Given the description of an element on the screen output the (x, y) to click on. 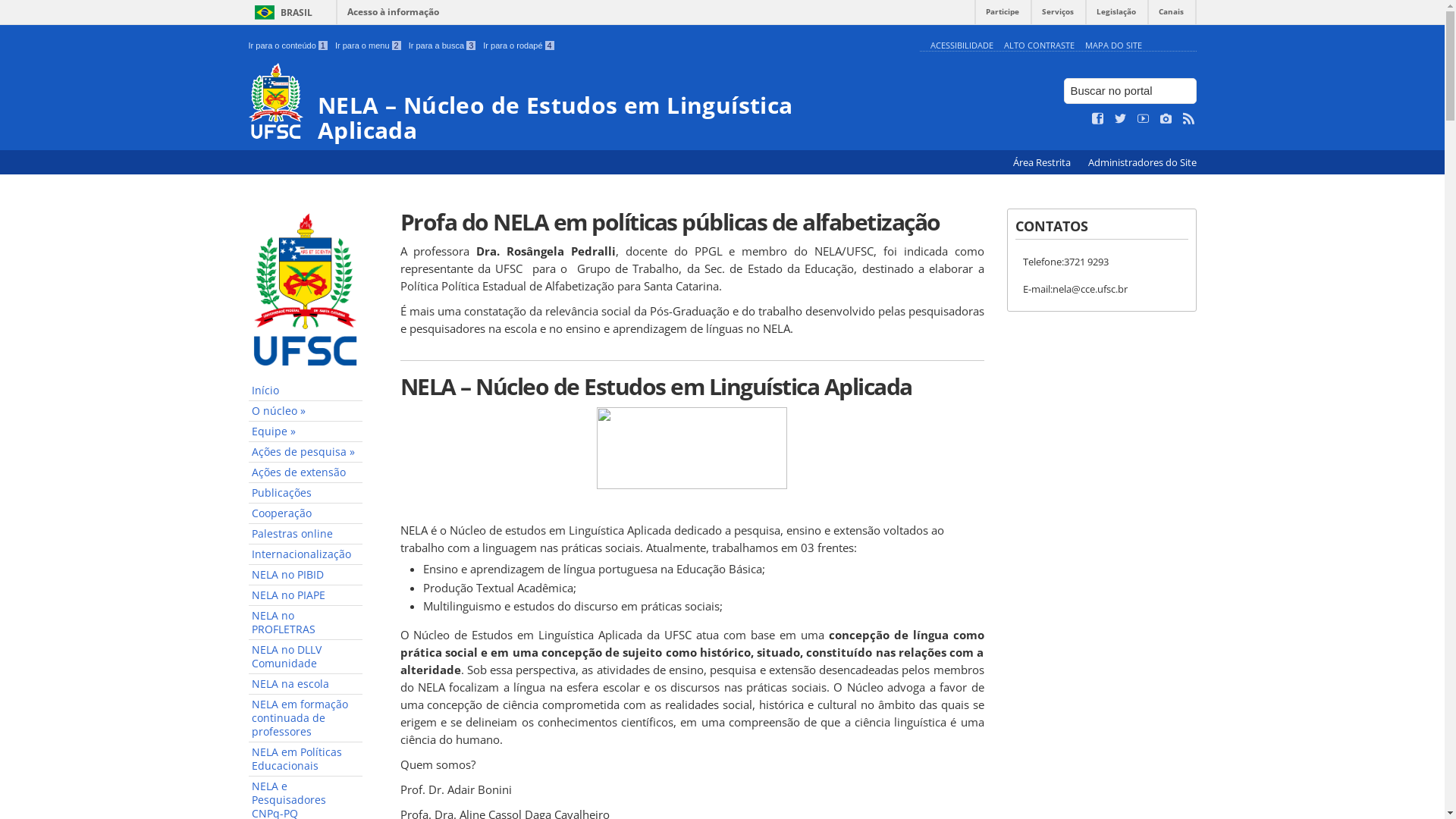
Curta no Facebook Element type: hover (1098, 118)
NELA no DLLV Comunidade Element type: text (305, 657)
Ir para o menu 2 Element type: text (368, 45)
NELA no PIBID Element type: text (305, 574)
NELA na escola Element type: text (305, 684)
Ir para a busca 3 Element type: text (442, 45)
ALTO CONTRASTE Element type: text (1039, 44)
Canais Element type: text (1171, 15)
Participe Element type: text (1002, 15)
MAPA DO SITE Element type: text (1112, 44)
Veja no Instagram Element type: hover (1166, 118)
ACESSIBILIDADE Element type: text (960, 44)
NELA no PIAPE Element type: text (305, 595)
Siga no Twitter Element type: hover (1120, 118)
BRASIL Element type: text (280, 12)
NELA no PROFLETRAS Element type: text (305, 622)
Administradores do Site Element type: text (1141, 162)
Palestras online Element type: text (305, 534)
